Given the description of an element on the screen output the (x, y) to click on. 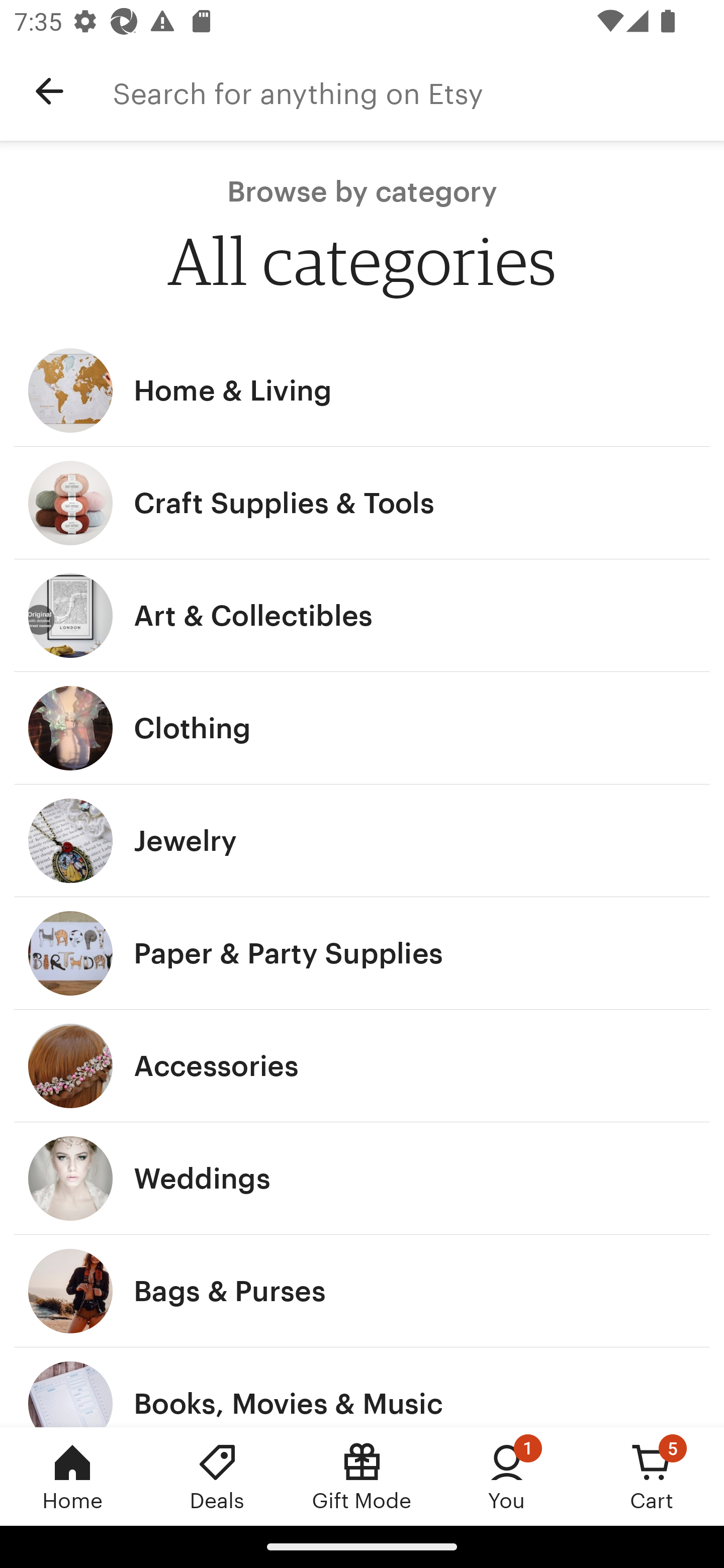
Navigate up (49, 91)
Search for anything on Etsy (418, 91)
Home & Living (361, 389)
Craft Supplies & Tools (361, 502)
Art & Collectibles (361, 615)
Clothing (361, 728)
Jewelry (361, 840)
Paper & Party Supplies (361, 952)
Accessories (361, 1065)
Weddings (361, 1178)
Bags & Purses (361, 1290)
Books, Movies & Music (361, 1386)
Deals (216, 1475)
Gift Mode (361, 1475)
You, 1 new notification You (506, 1475)
Cart, 5 new notifications Cart (651, 1475)
